Given the description of an element on the screen output the (x, y) to click on. 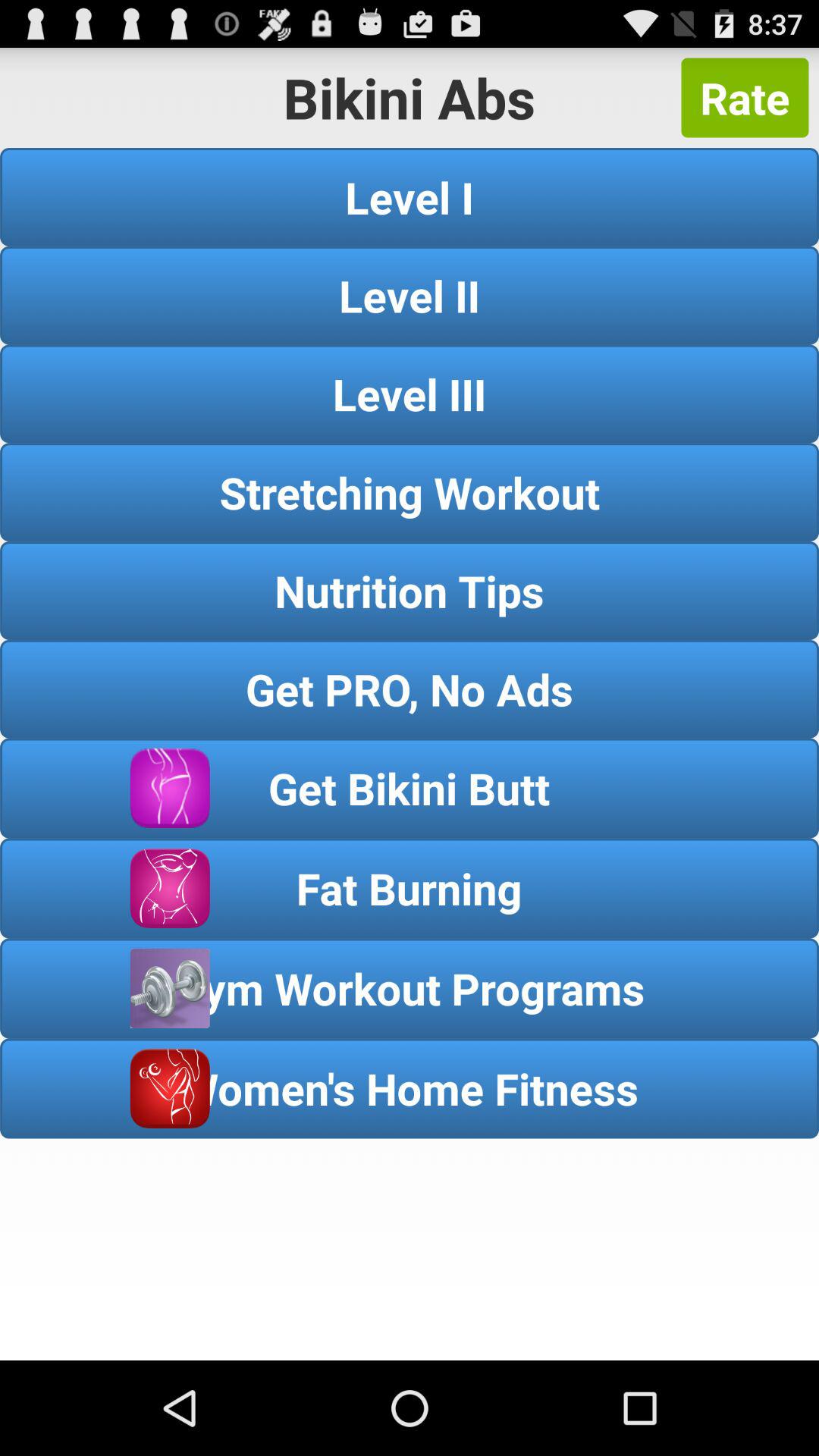
launch the icon below the level ii icon (409, 393)
